Given the description of an element on the screen output the (x, y) to click on. 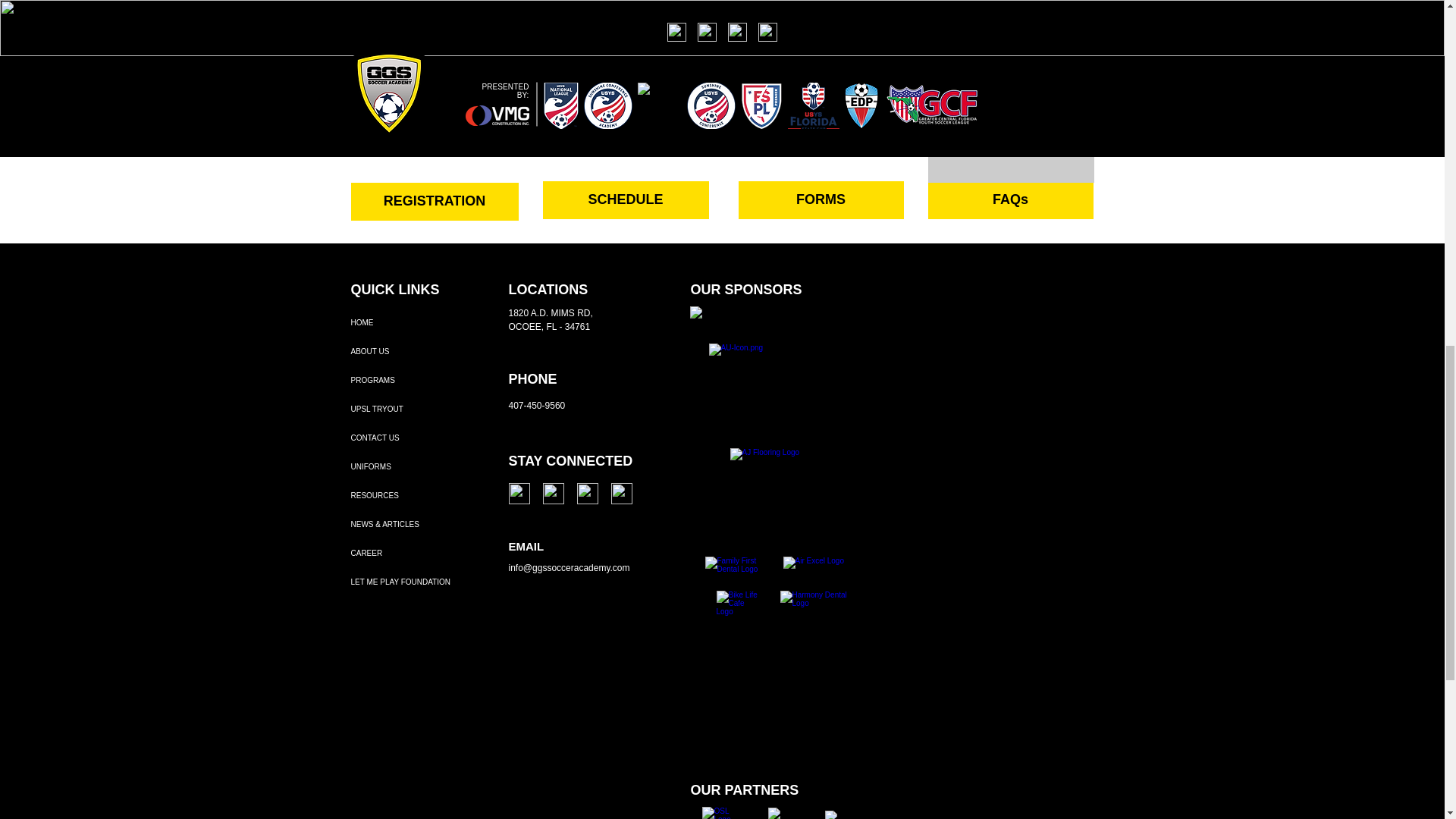
REGISTRATION (434, 201)
Harmony Dental Care Logo 2.png (814, 608)
SCHEDULE (626, 199)
FORMS (821, 199)
VMG Logo White Letters.png (773, 333)
